Given the description of an element on the screen output the (x, y) to click on. 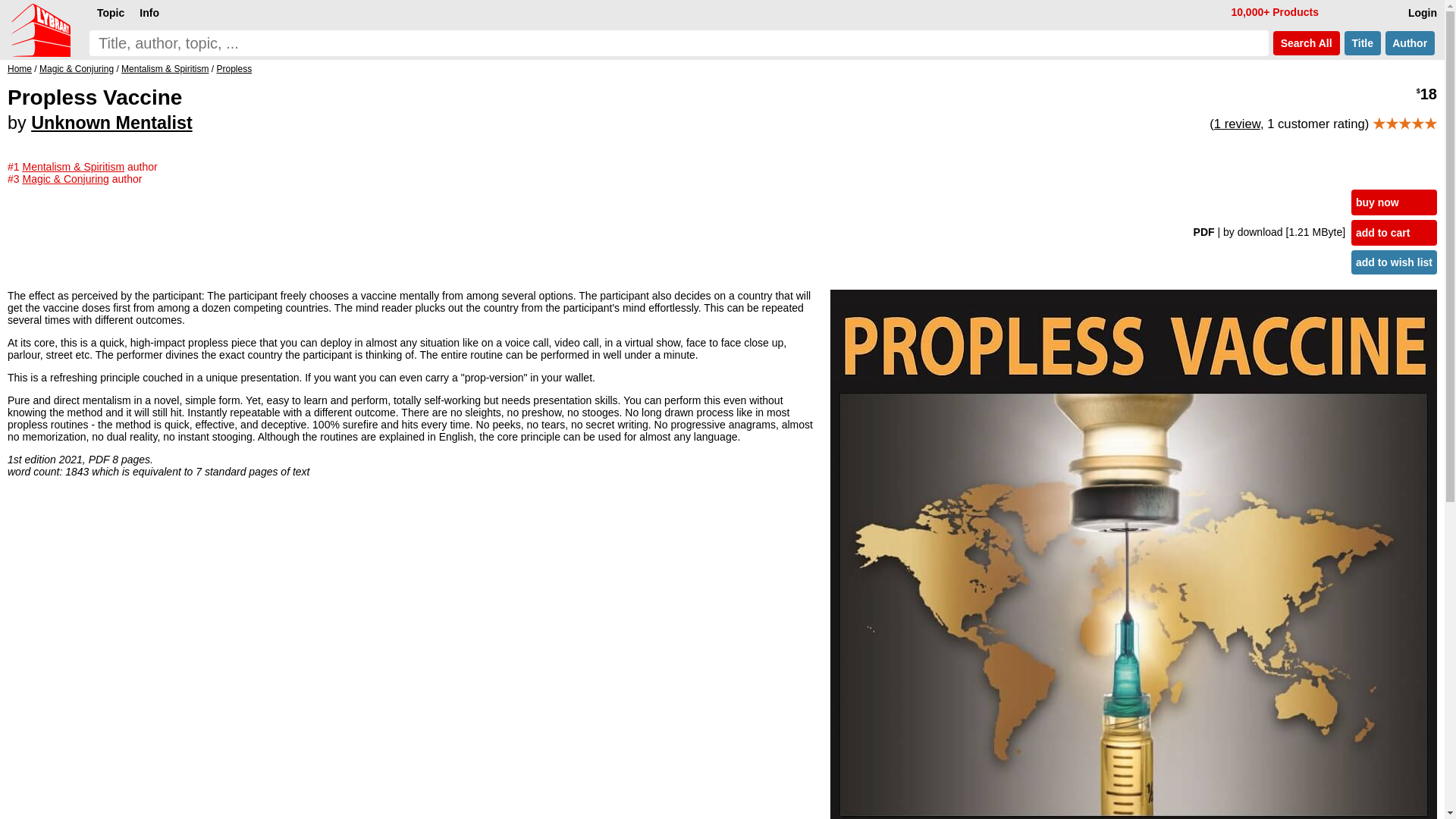
add to wish list (1394, 262)
 Search All  (1305, 43)
add to cart (1394, 232)
buy now (1394, 202)
 Author  (1410, 43)
1 review (1237, 124)
Unknown Mentalist (111, 122)
Propless (233, 68)
Home (19, 68)
 Title  (1361, 43)
